Given the description of an element on the screen output the (x, y) to click on. 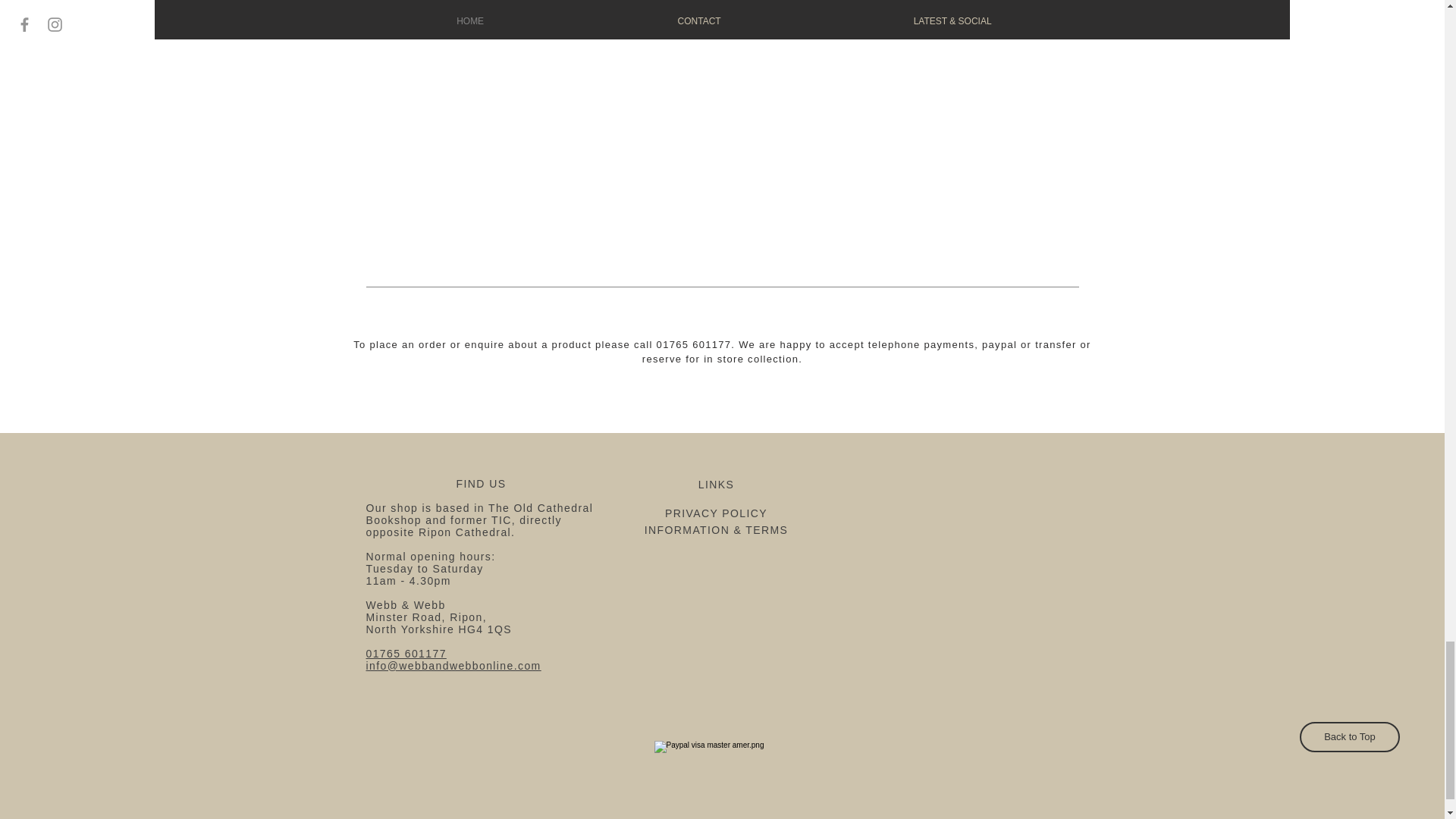
PRIVACY POLICY (716, 512)
01765 601177 (405, 653)
